Given the description of an element on the screen output the (x, y) to click on. 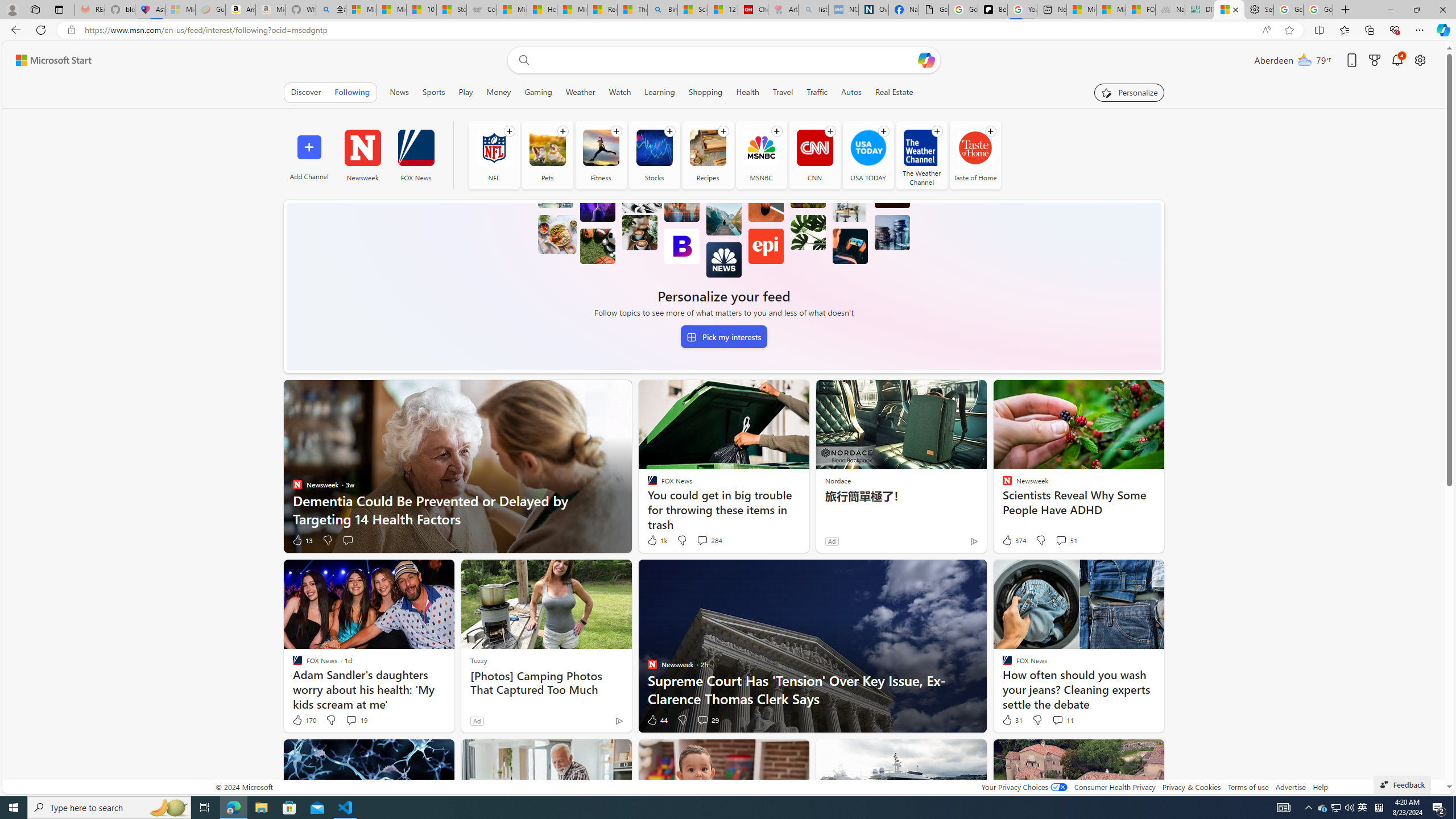
Arthritis: Ask Health Professionals - Sleeping (782, 9)
The Weather Channel (921, 147)
Travel (782, 92)
Play (465, 92)
170 Like (303, 719)
Health (747, 92)
